Given the description of an element on the screen output the (x, y) to click on. 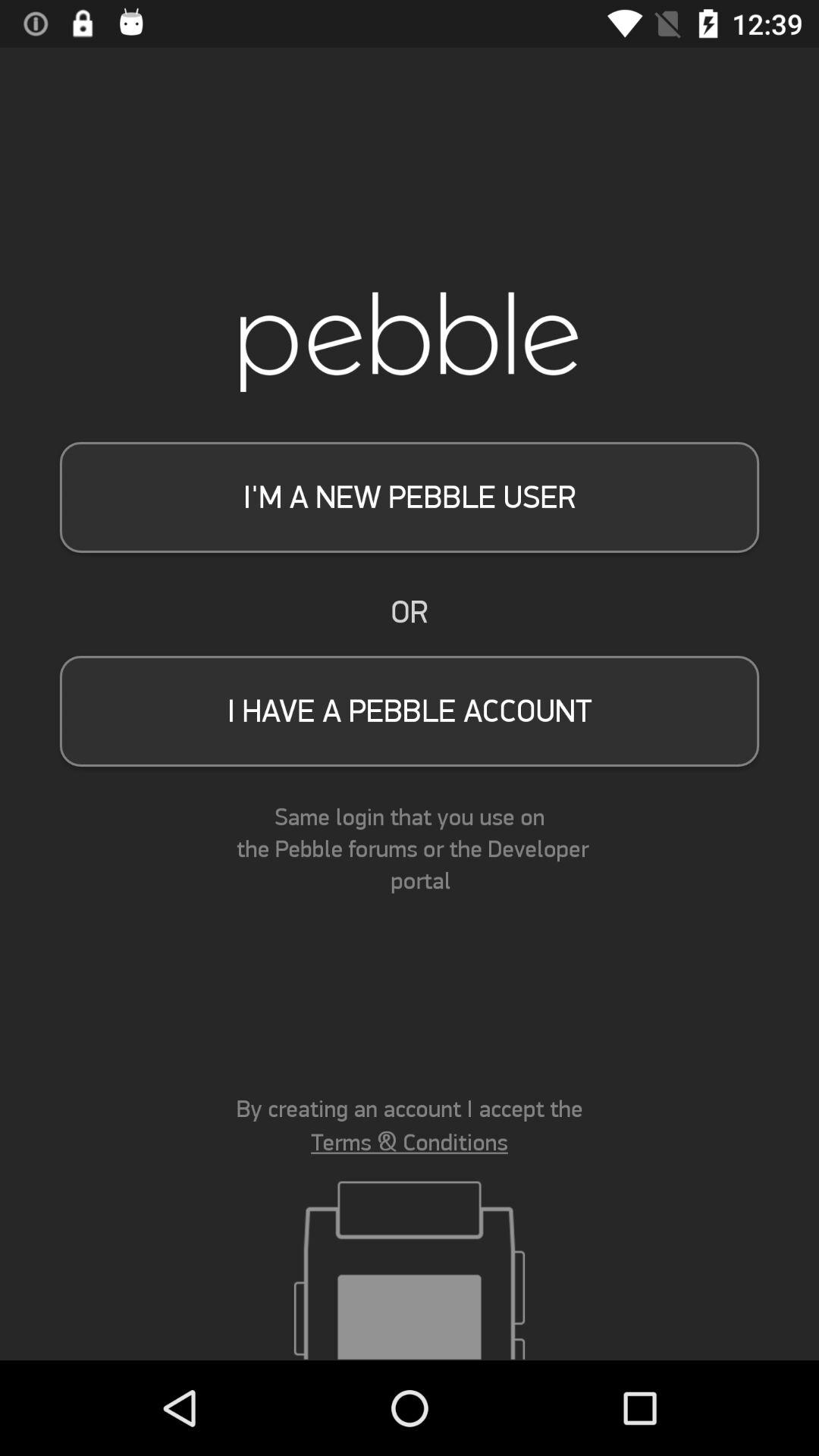
select item above or item (409, 496)
